Given the description of an element on the screen output the (x, y) to click on. 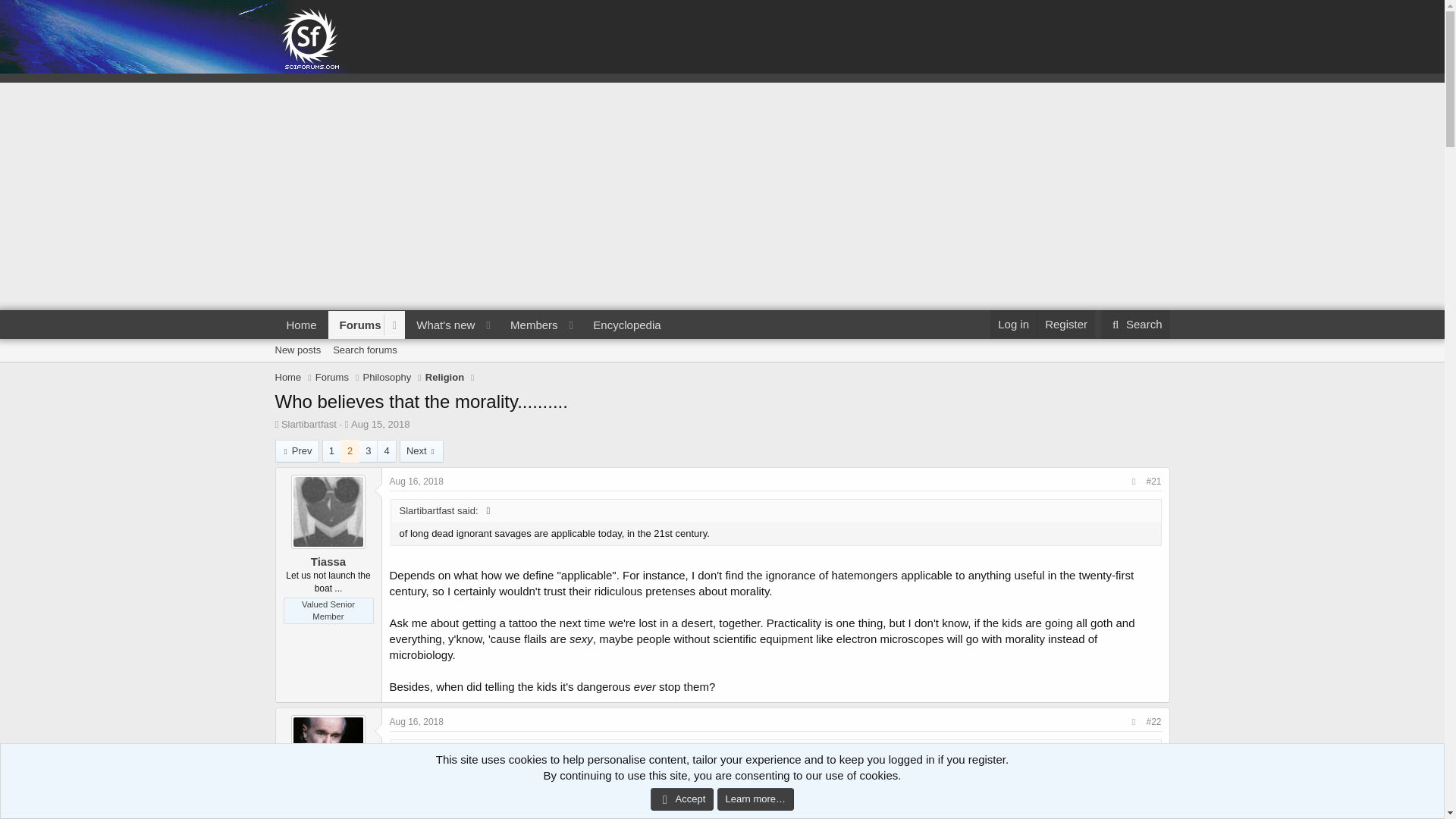
Aug 15, 2018 (379, 423)
Forums (356, 325)
Members (529, 325)
Aug 16, 2018 at 1:48 AM (417, 480)
Philosophy (387, 377)
Home (288, 377)
Search (1135, 324)
What's new (440, 325)
New posts (296, 350)
Log in (1013, 324)
Home (472, 325)
Religion (472, 342)
Encyclopedia (301, 325)
